Given the description of an element on the screen output the (x, y) to click on. 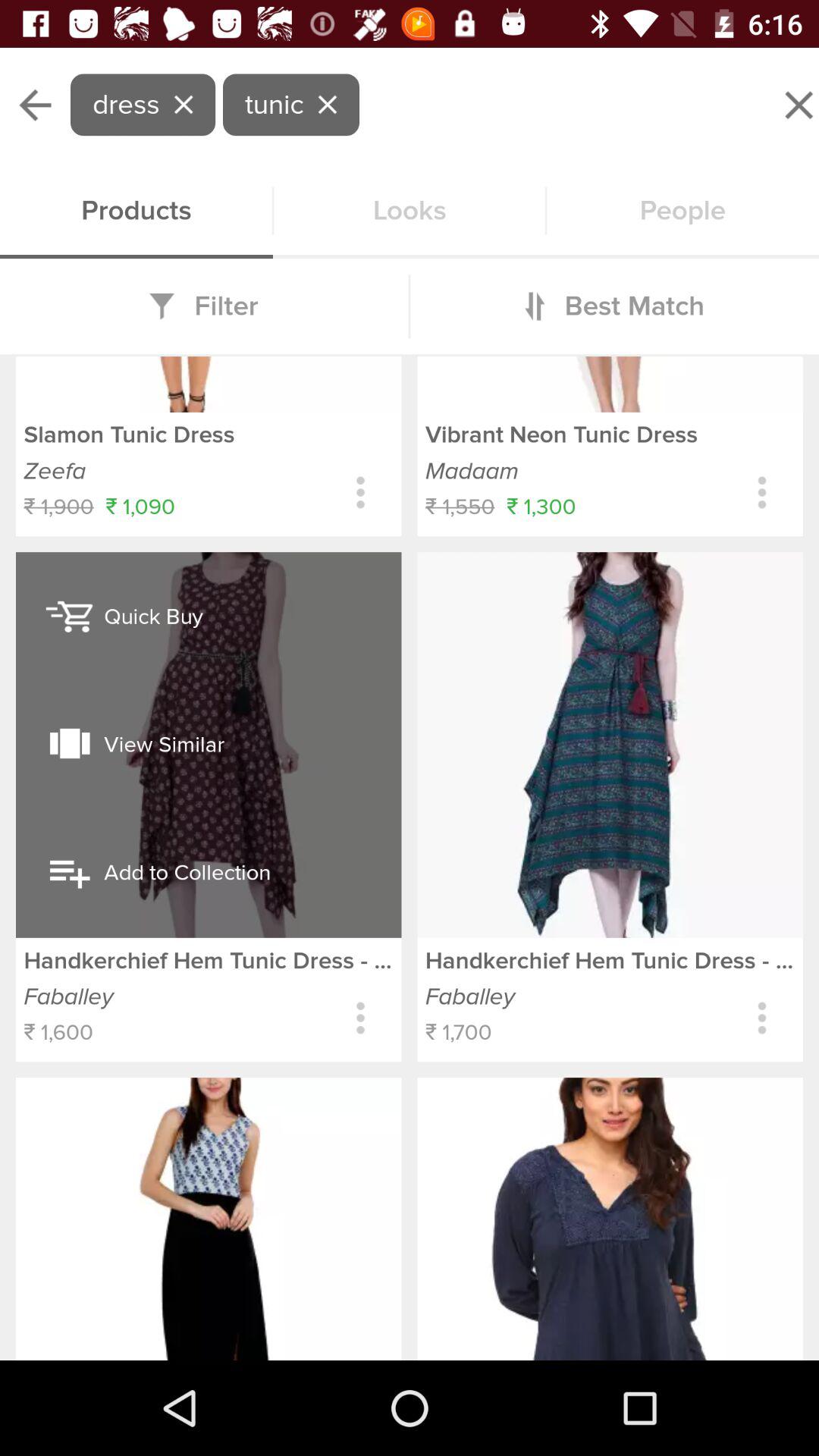
expands to show sizing colors and setttings (360, 492)
